Given the description of an element on the screen output the (x, y) to click on. 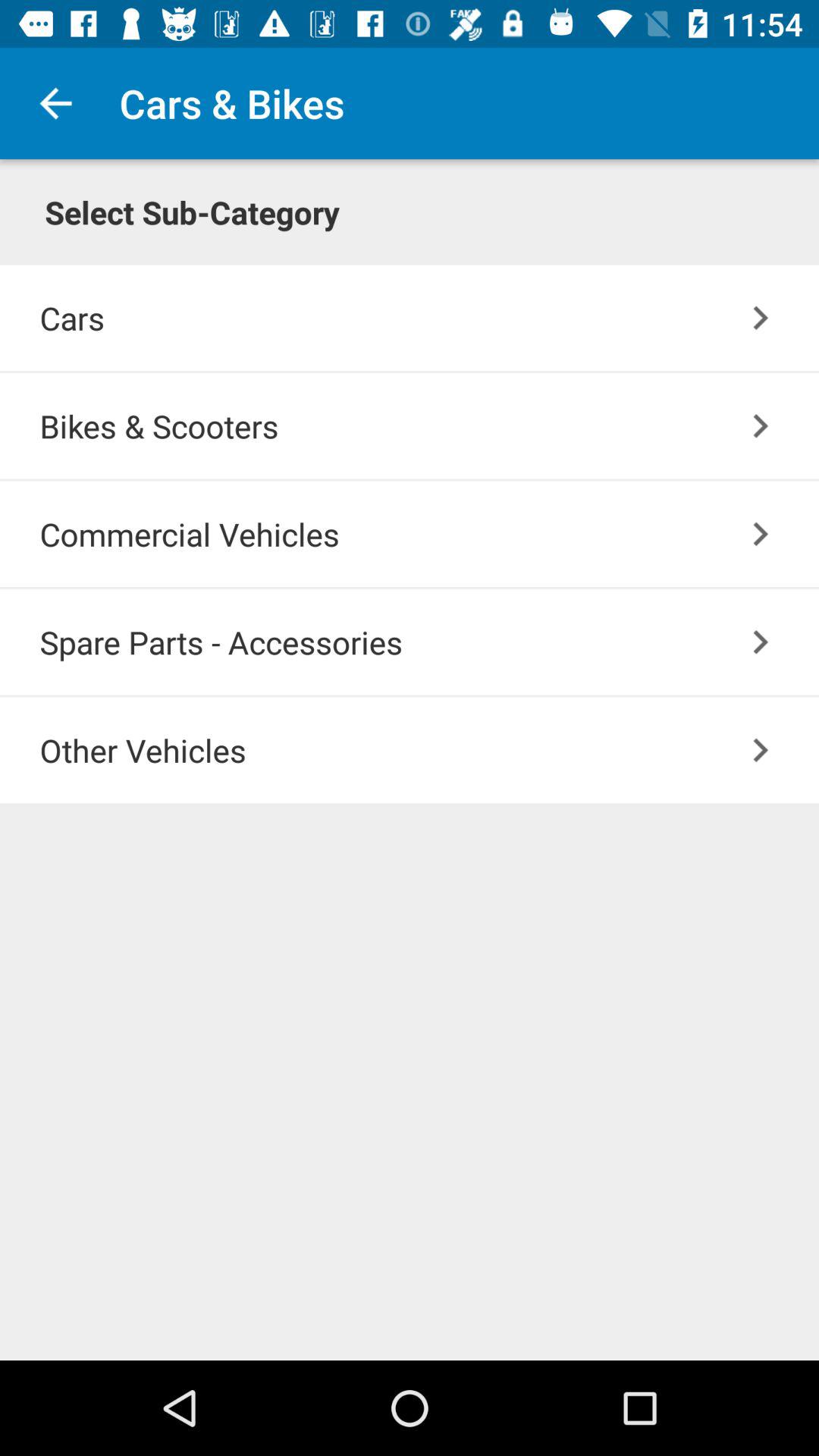
click icon above the commercial vehicles item (429, 425)
